Given the description of an element on the screen output the (x, y) to click on. 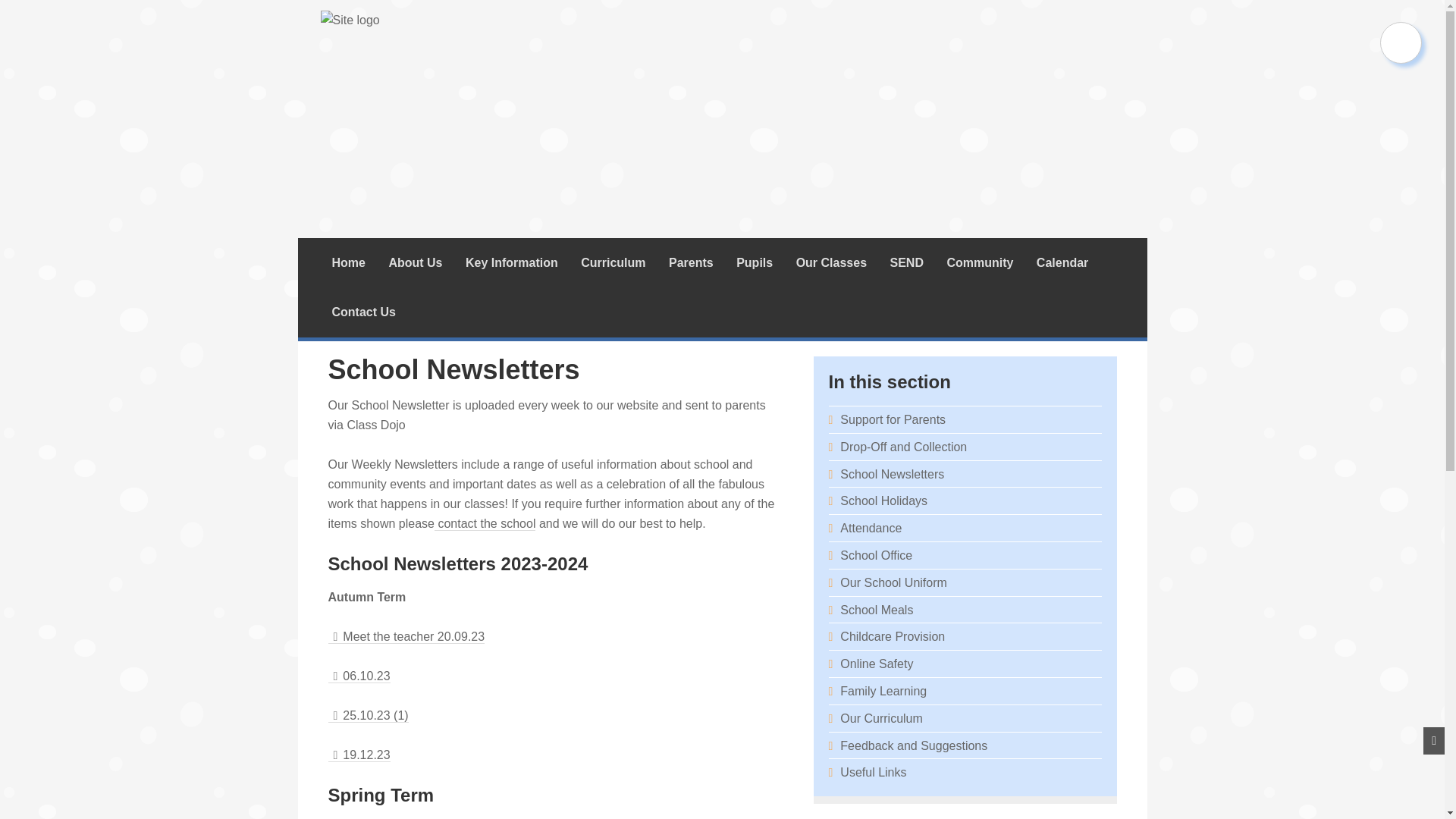
Contact Us (484, 523)
